Given the description of an element on the screen output the (x, y) to click on. 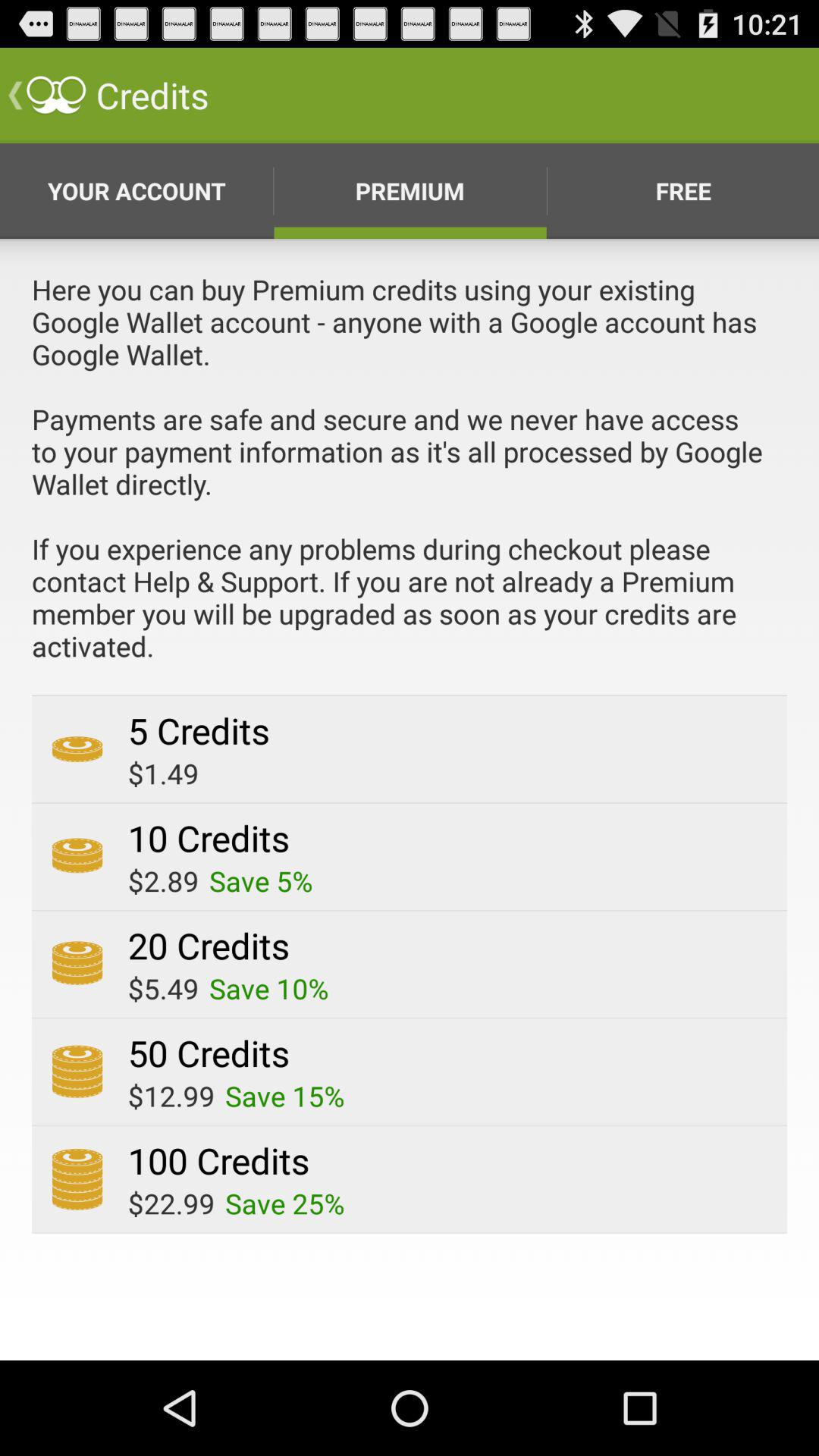
open app next to $2.89 icon (260, 880)
